Given the description of an element on the screen output the (x, y) to click on. 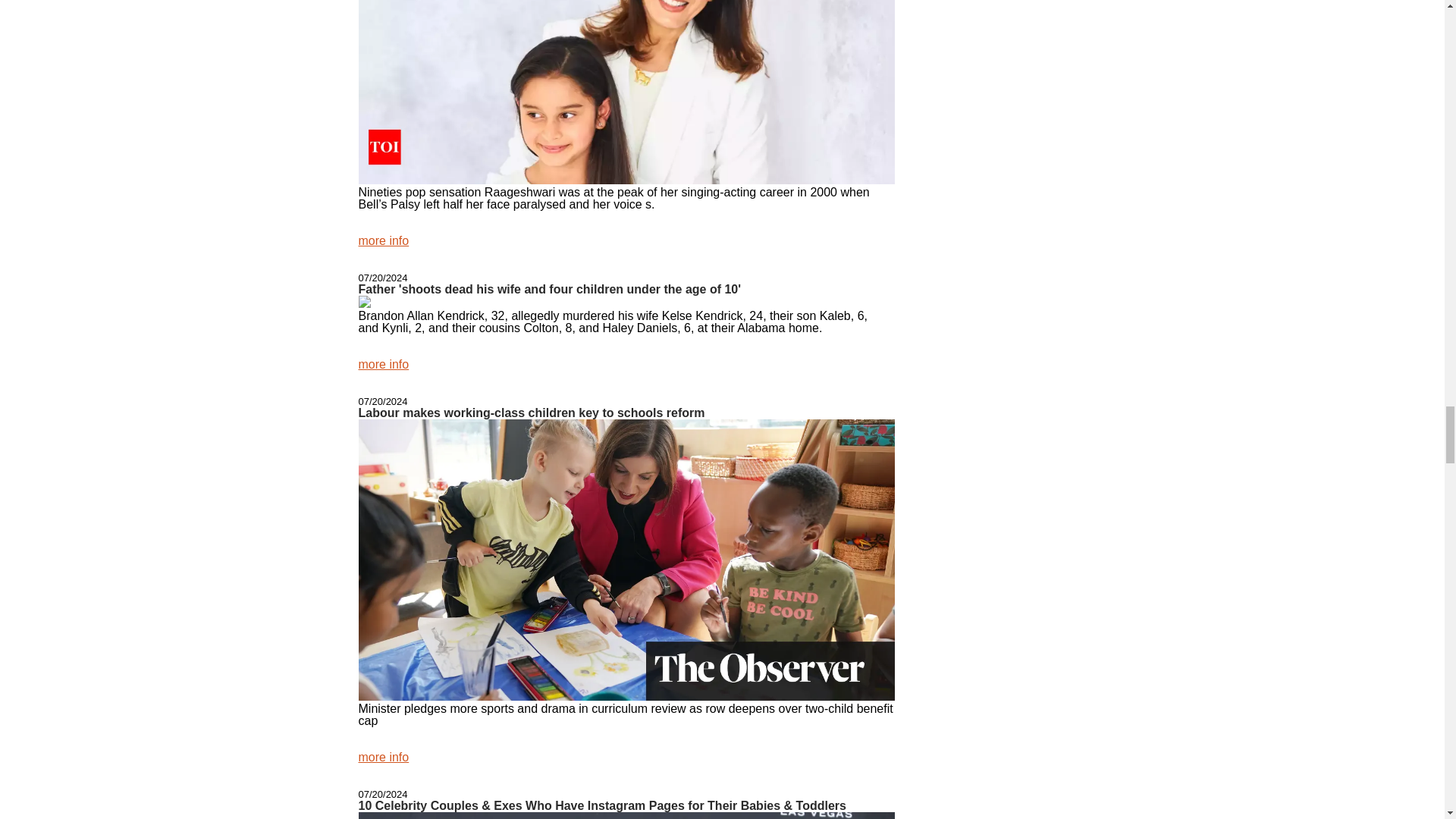
more info (383, 240)
more info (383, 364)
more info (383, 757)
